Given the description of an element on the screen output the (x, y) to click on. 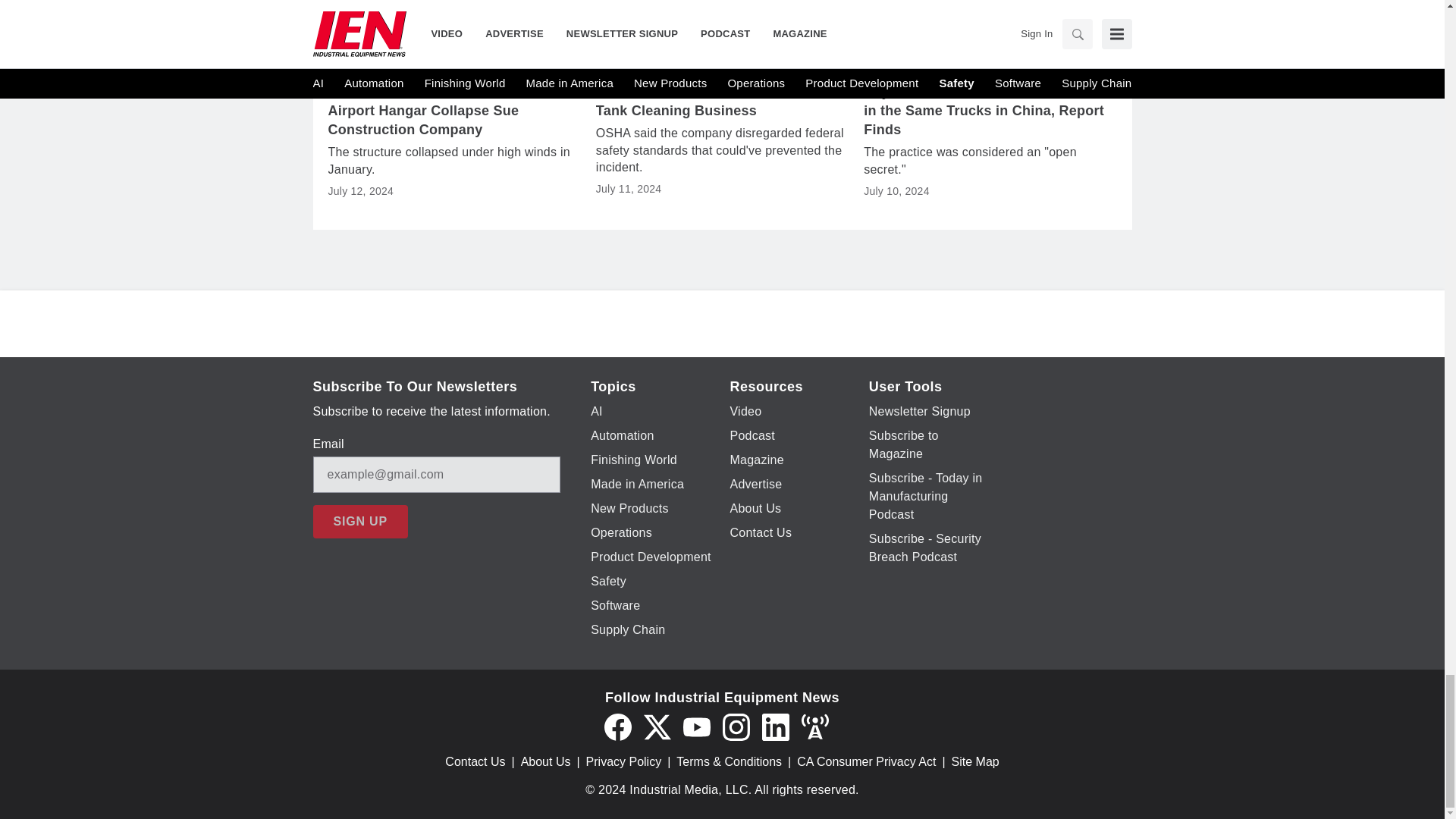
Instagram icon (735, 727)
YouTube icon (696, 727)
Facebook icon (617, 727)
LinkedIn icon (775, 727)
Twitter X icon (656, 727)
